Given the description of an element on the screen output the (x, y) to click on. 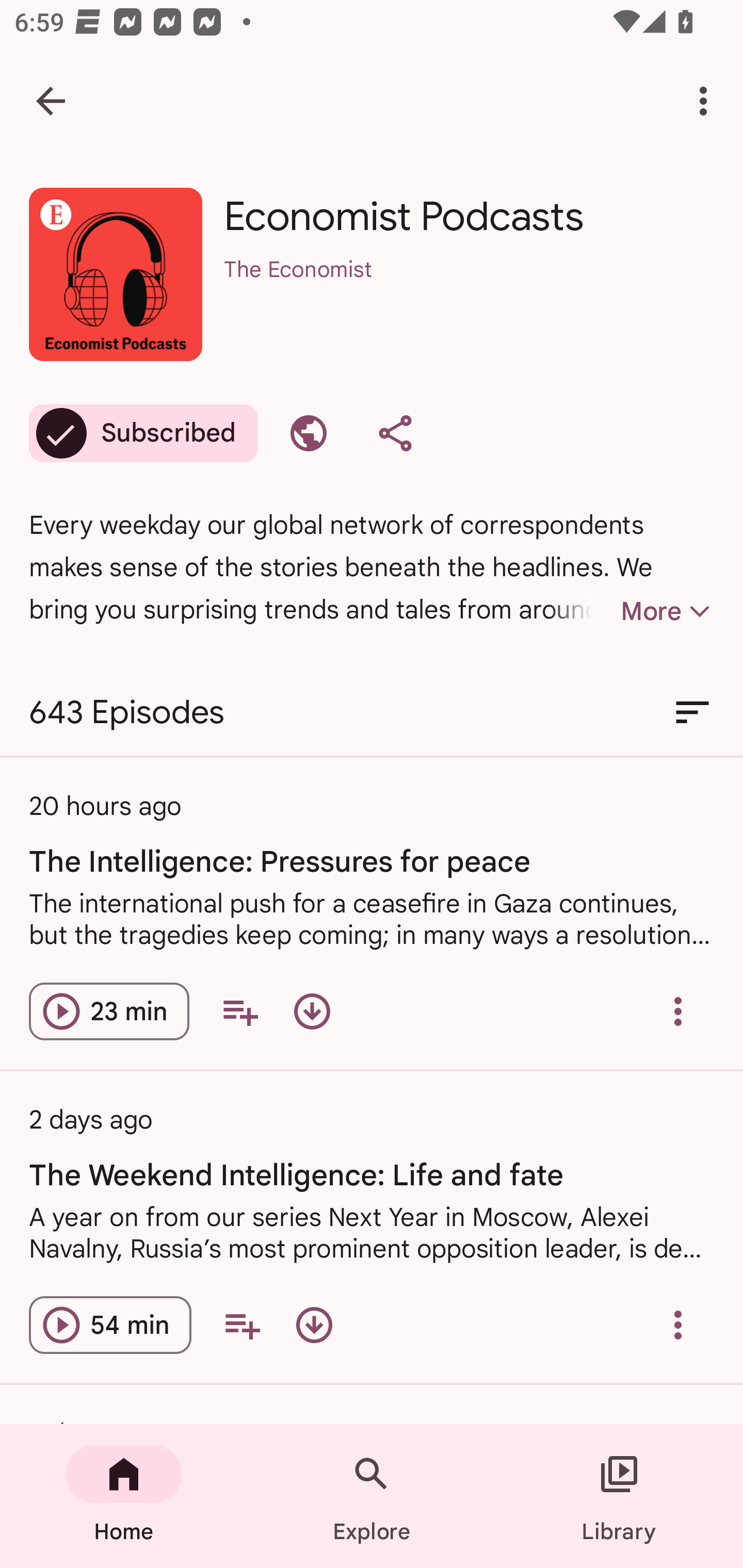
Navigate up (50, 101)
More options (706, 101)
The Economist (468, 295)
Subscribed (142, 433)
Visit website (308, 433)
Share (395, 433)
More (631, 610)
Sort (692, 712)
Add to your queue (239, 1011)
Download episode (312, 1011)
Overflow menu (677, 1011)
Add to your queue (241, 1324)
Download episode (313, 1324)
Overflow menu (677, 1324)
Explore (371, 1495)
Library (619, 1495)
